Given the description of an element on the screen output the (x, y) to click on. 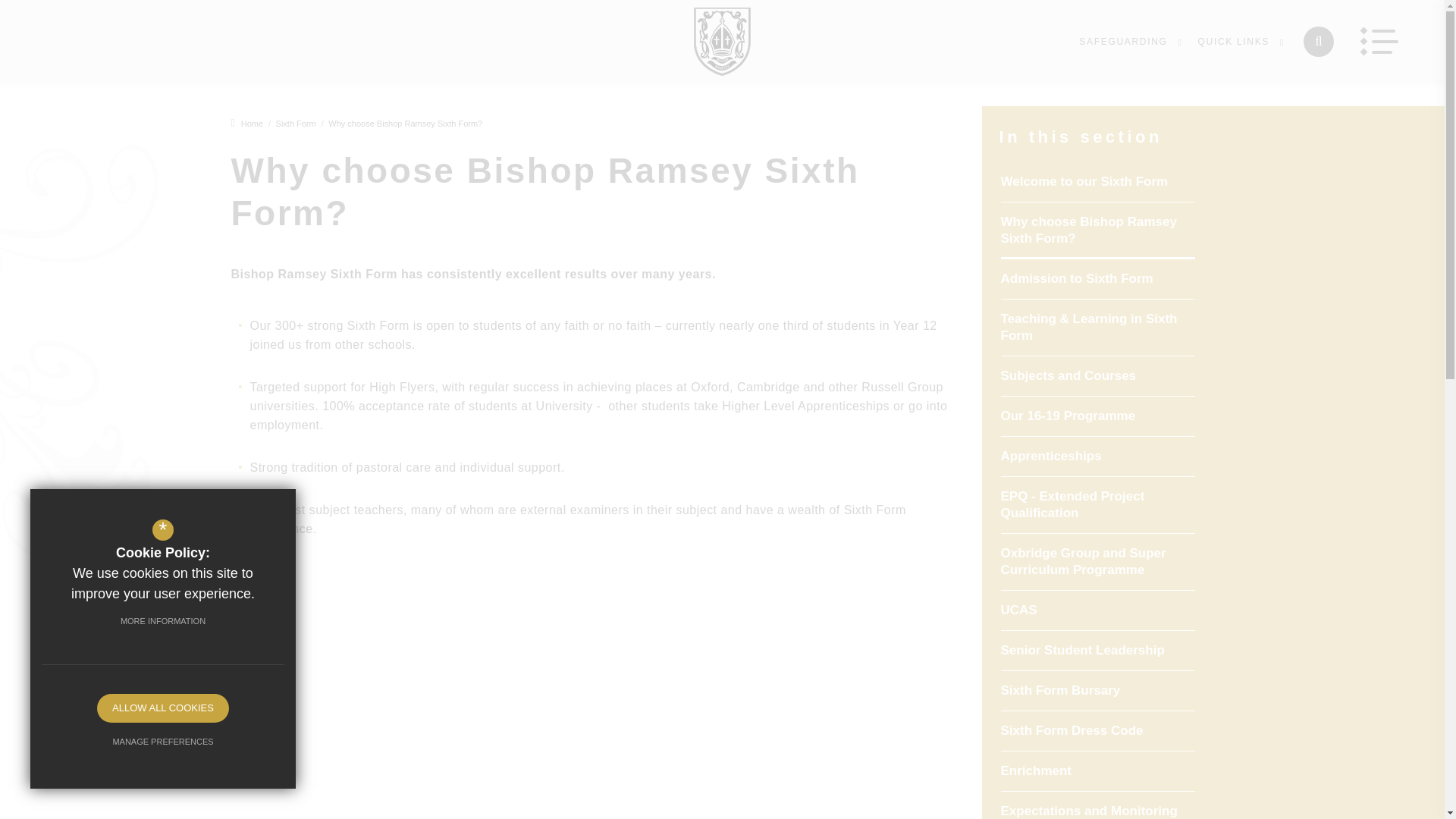
Cookie Settings (162, 531)
Read more about our cookie policy (162, 620)
Search site (1318, 41)
SAFEGUARDING (1130, 41)
QUICK LINKS (1241, 41)
